Given the description of an element on the screen output the (x, y) to click on. 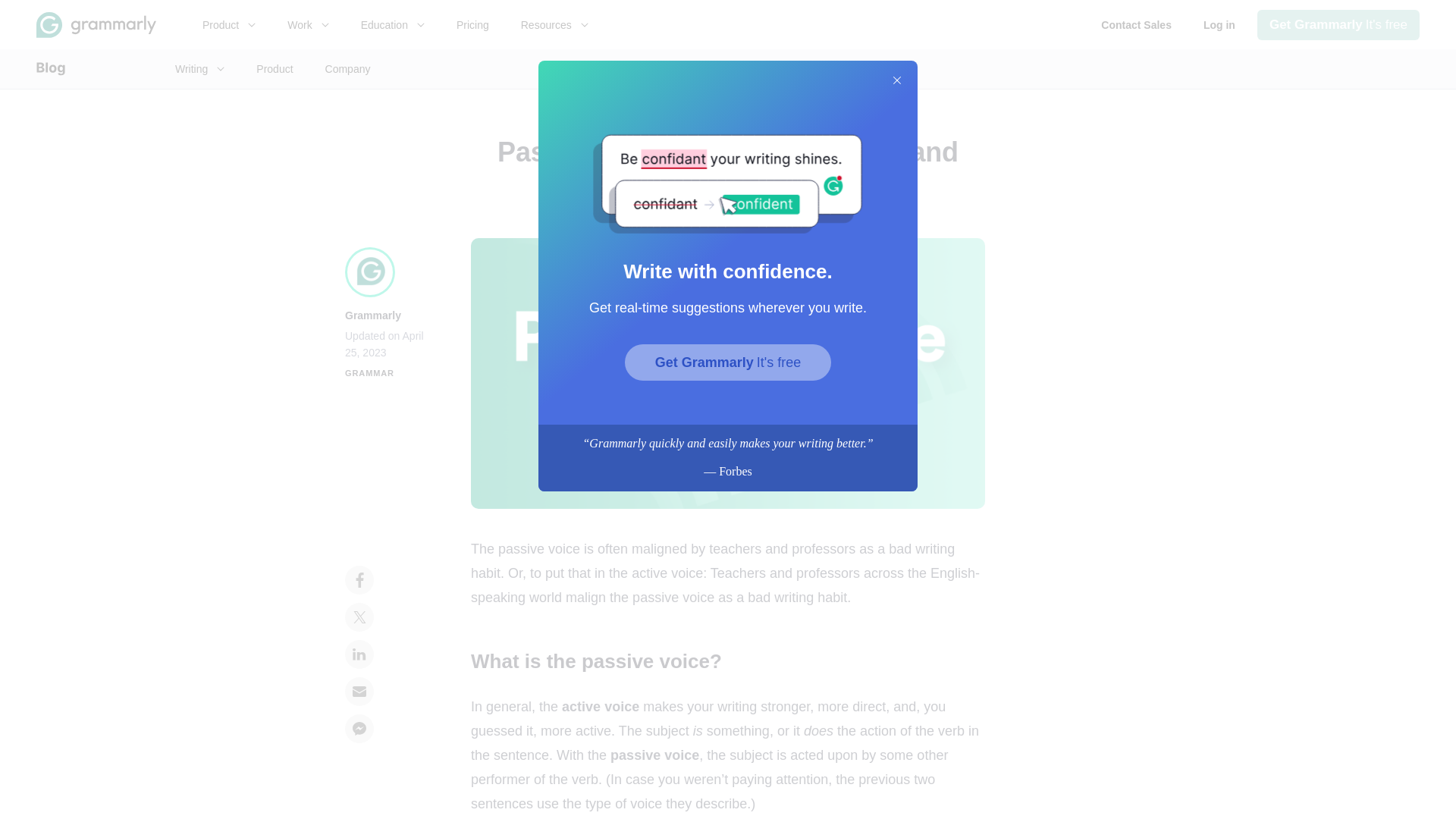
Product (228, 24)
Work (1338, 24)
Pricing (307, 24)
Contact Sales (472, 24)
Resources (1135, 24)
Education (554, 24)
Log in (391, 24)
